Given the description of an element on the screen output the (x, y) to click on. 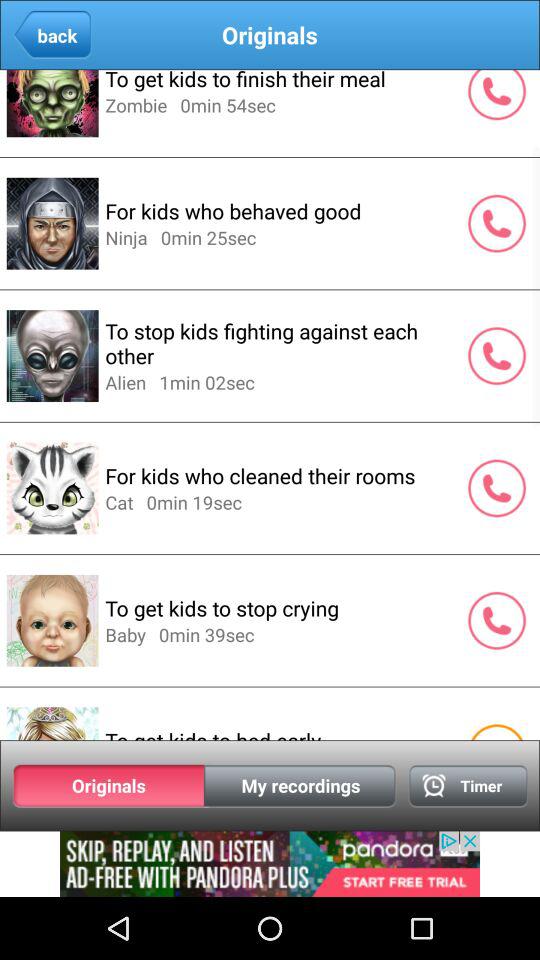
alarm (468, 785)
